Given the description of an element on the screen output the (x, y) to click on. 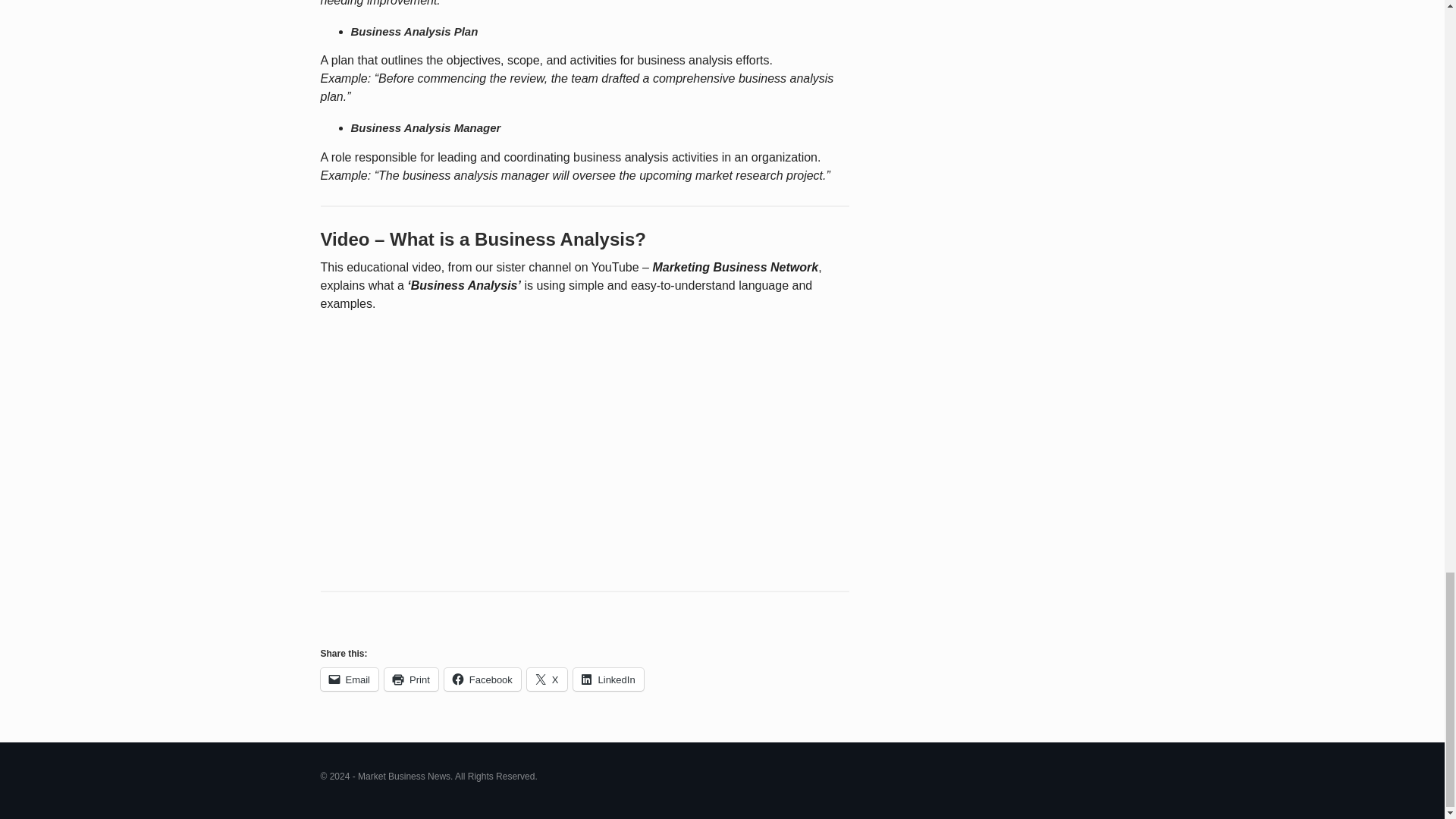
Print (411, 679)
X (547, 679)
YouTube video player (532, 445)
Click to share on X (547, 679)
LinkedIn (608, 679)
Click to email a link to a friend (349, 679)
Click to share on LinkedIn (608, 679)
Facebook (482, 679)
Email (349, 679)
Click to print (411, 679)
Click to share on Facebook (482, 679)
